Given the description of an element on the screen output the (x, y) to click on. 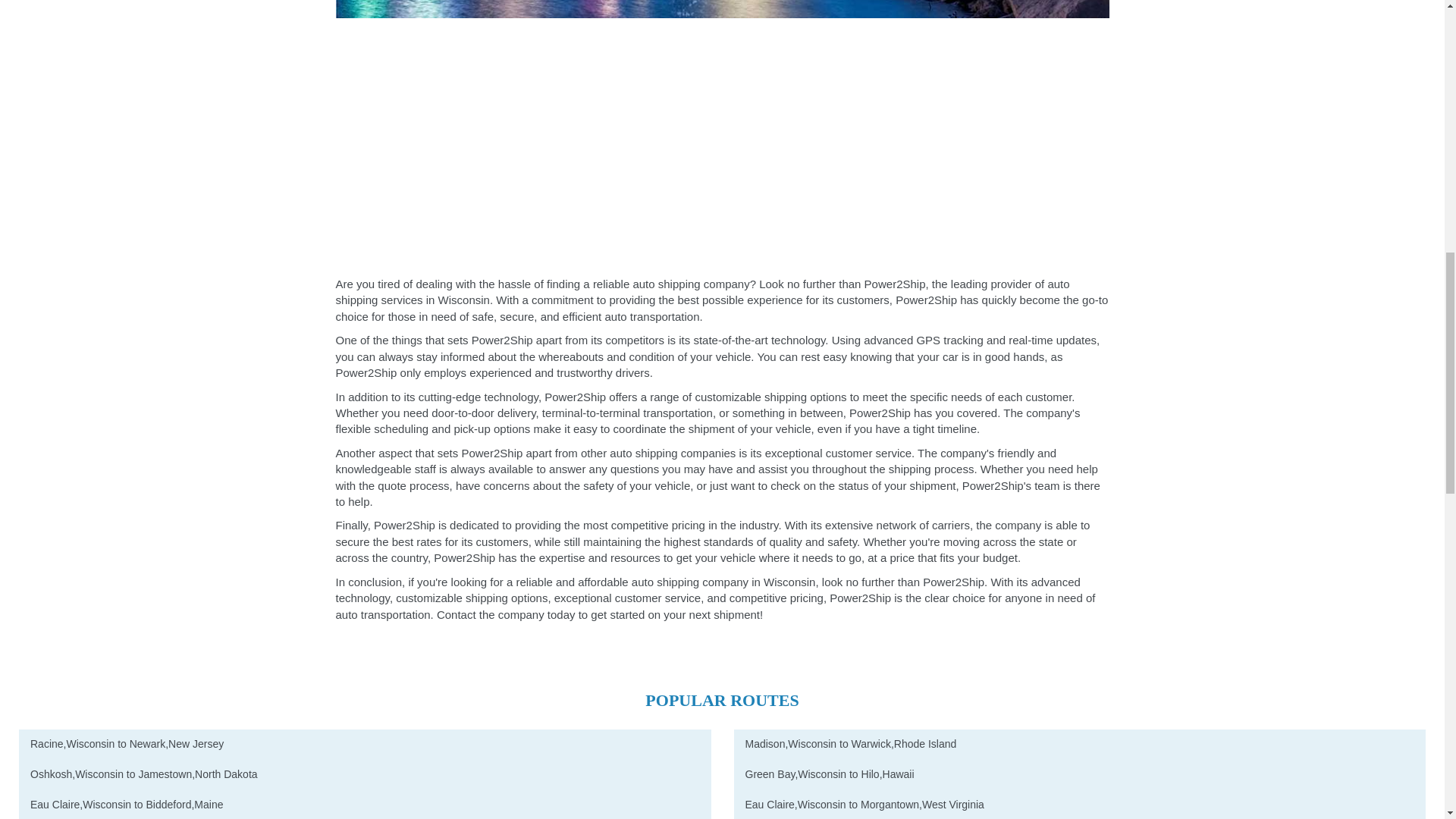
YouTube video player (721, 144)
Racine,Wisconsin to Newark,New Jersey (364, 744)
Eau Claire,Wisconsin to Morgantown,West Virginia (1079, 804)
Madison,Wisconsin to Warwick,Rhode Island (1079, 744)
Oshkosh,Wisconsin to Jamestown,North Dakota (364, 775)
Green Bay,Wisconsin to Hilo,Hawaii (1079, 775)
Eau Claire,Wisconsin to Biddeford,Maine (364, 804)
